Given the description of an element on the screen output the (x, y) to click on. 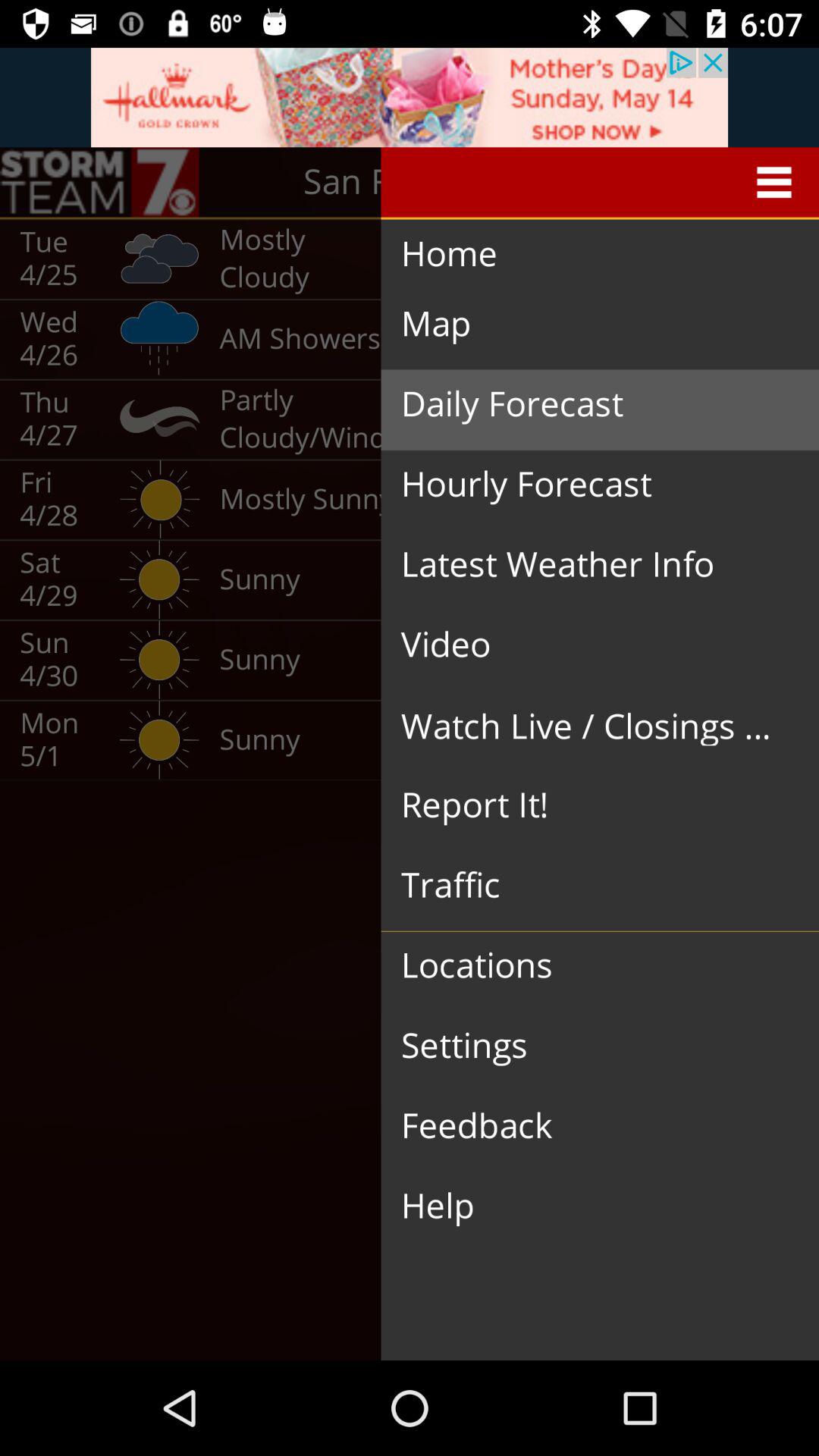
press the icon above report it! icon (587, 725)
